Given the description of an element on the screen output the (x, y) to click on. 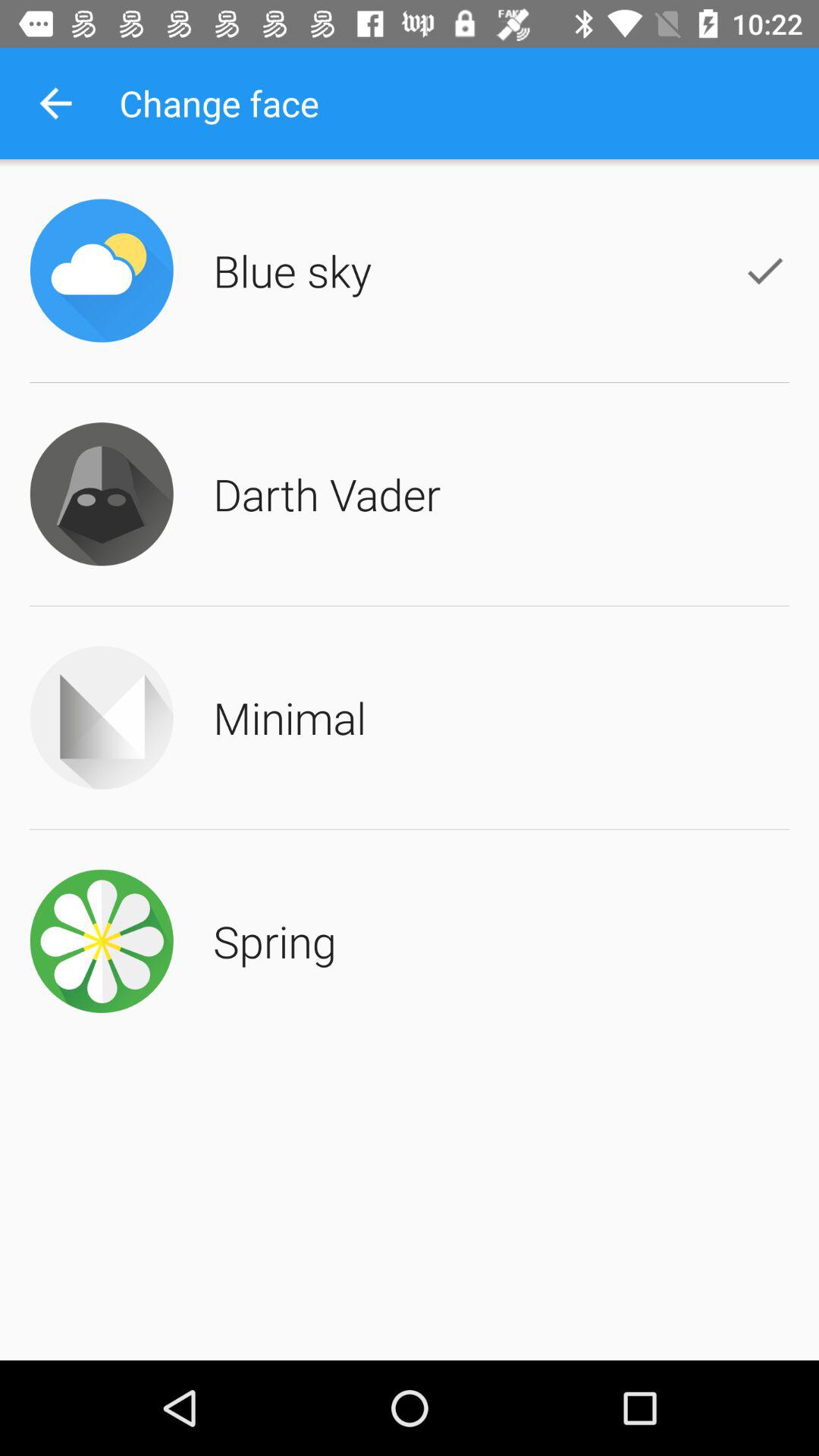
swipe until minimal item (289, 717)
